Given the description of an element on the screen output the (x, y) to click on. 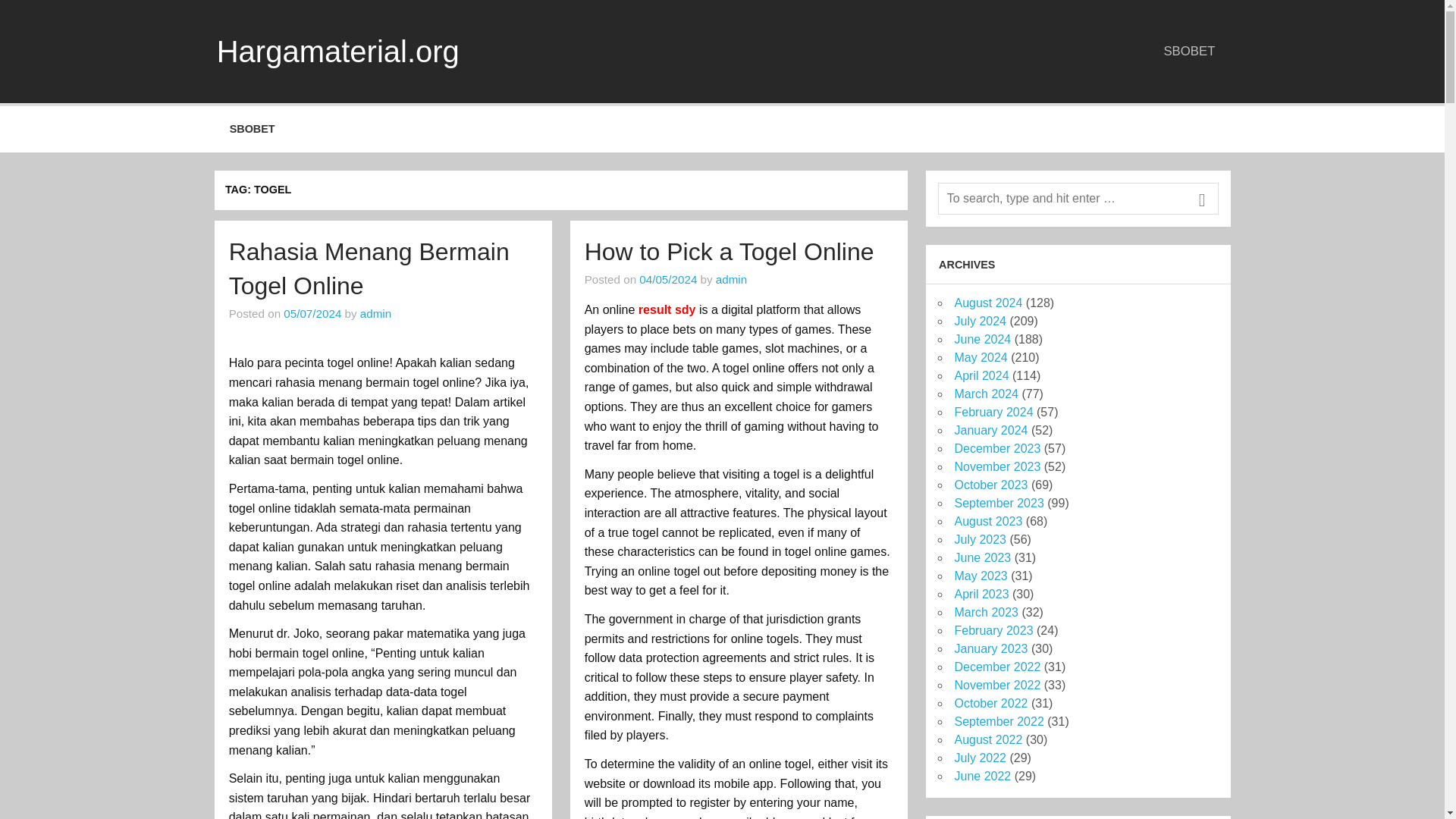
SBOBET (251, 128)
result sdy (667, 309)
2:49 PM (668, 278)
View all posts by admin (731, 278)
Hargamaterial.org (338, 51)
admin (375, 313)
SBOBET (1189, 51)
11:00 AM (311, 313)
admin (731, 278)
Rahasia Menang Bermain Togel Online (368, 268)
